Given the description of an element on the screen output the (x, y) to click on. 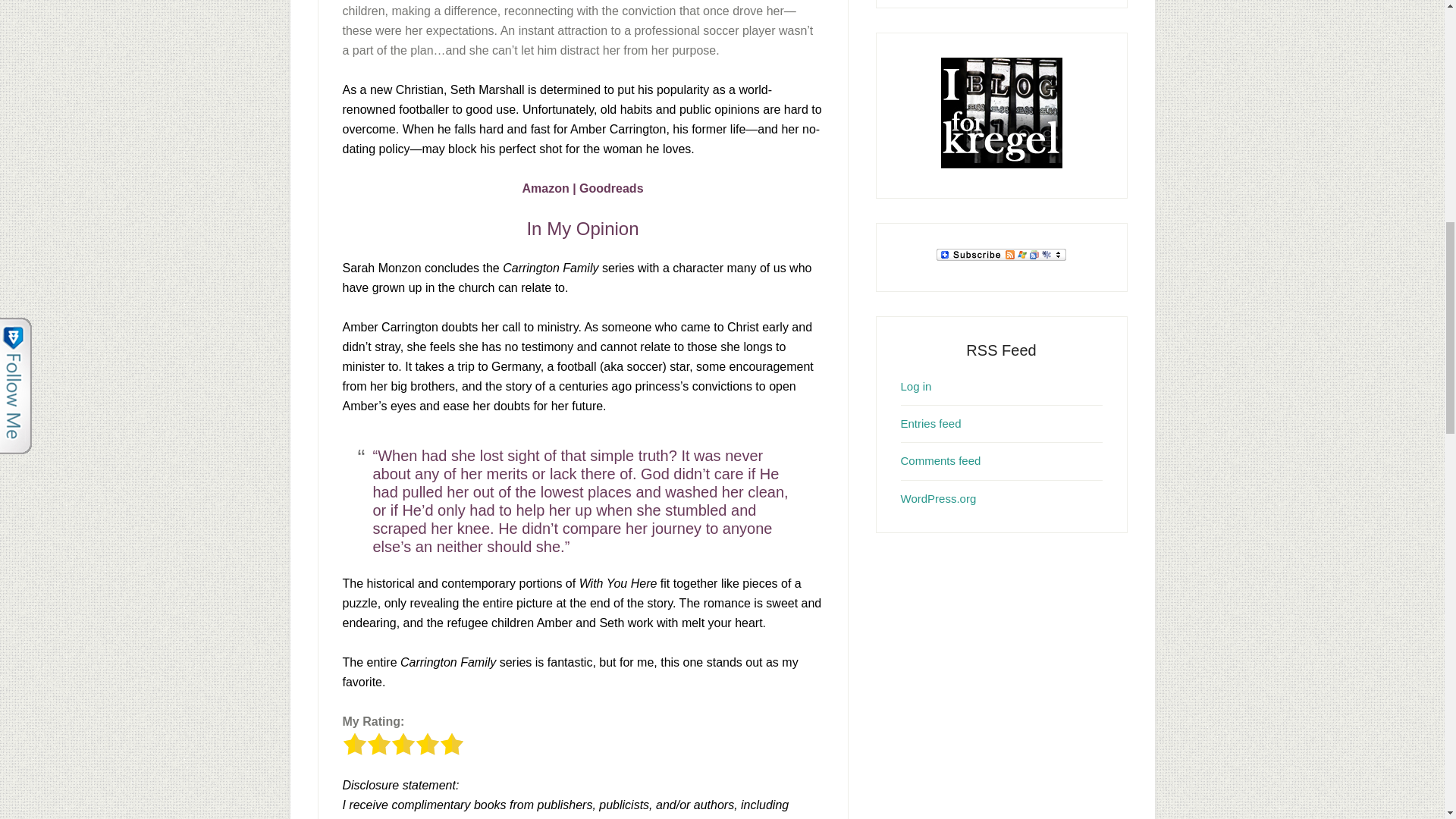
Amazon (545, 187)
Goodreads (611, 187)
WordPress.org (938, 498)
Comments feed (941, 460)
Entries feed (930, 422)
Log in (916, 385)
